Given the description of an element on the screen output the (x, y) to click on. 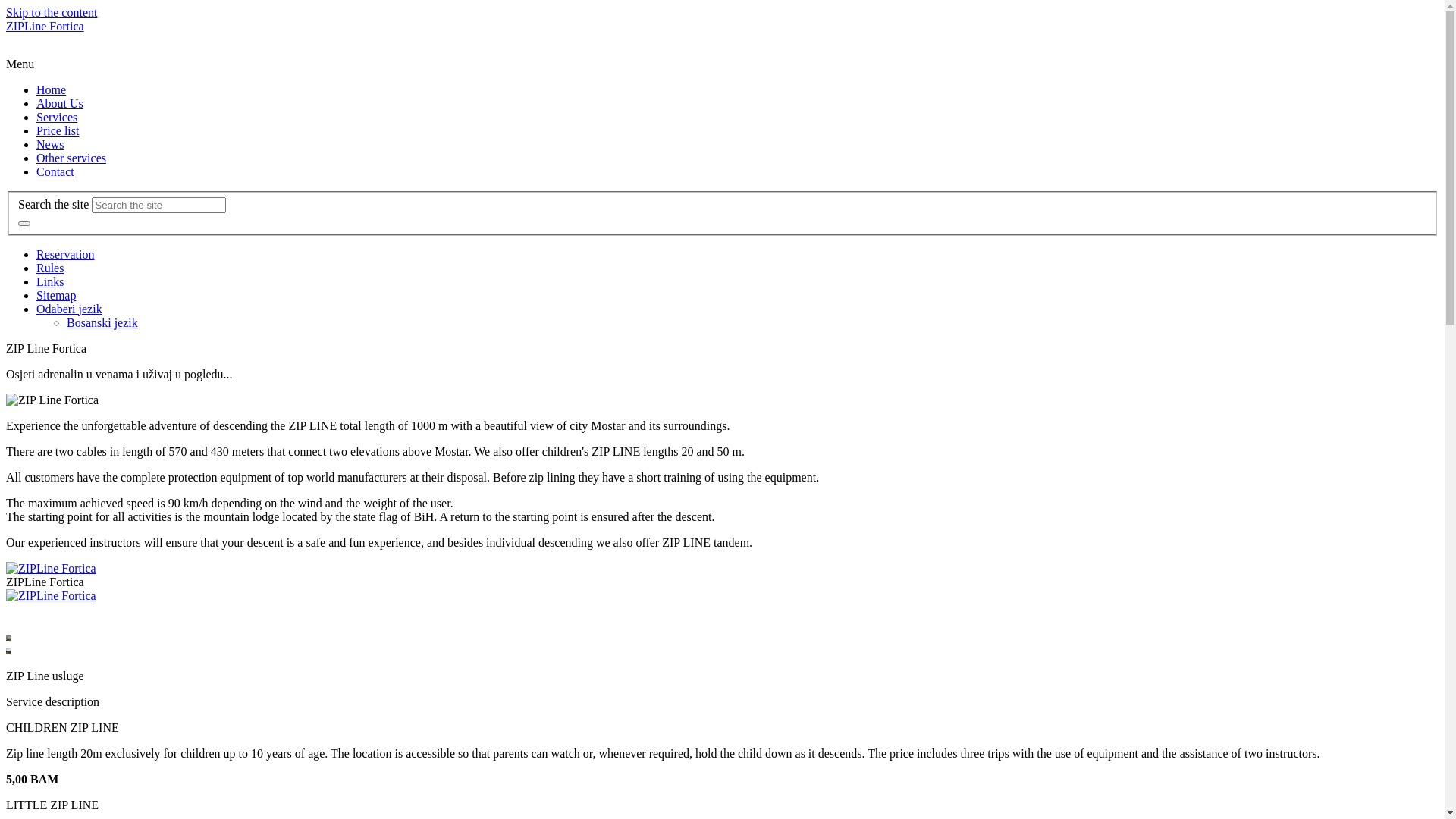
Rules Element type: text (49, 267)
Links Element type: text (49, 281)
Home Element type: text (50, 89)
Bosanski jezik Element type: text (102, 322)
Contact Element type: text (55, 171)
Sitemap Element type: text (55, 294)
Odaberi jezik Element type: text (69, 308)
Services Element type: text (56, 116)
ZIPLine Fortica Element type: text (45, 25)
About Us Element type: text (59, 103)
News Element type: text (49, 144)
Menu Element type: text (20, 63)
Price list Element type: text (57, 130)
Other services Element type: text (71, 157)
Reservation Element type: text (65, 253)
Skip to the content Element type: text (51, 12)
